Given the description of an element on the screen output the (x, y) to click on. 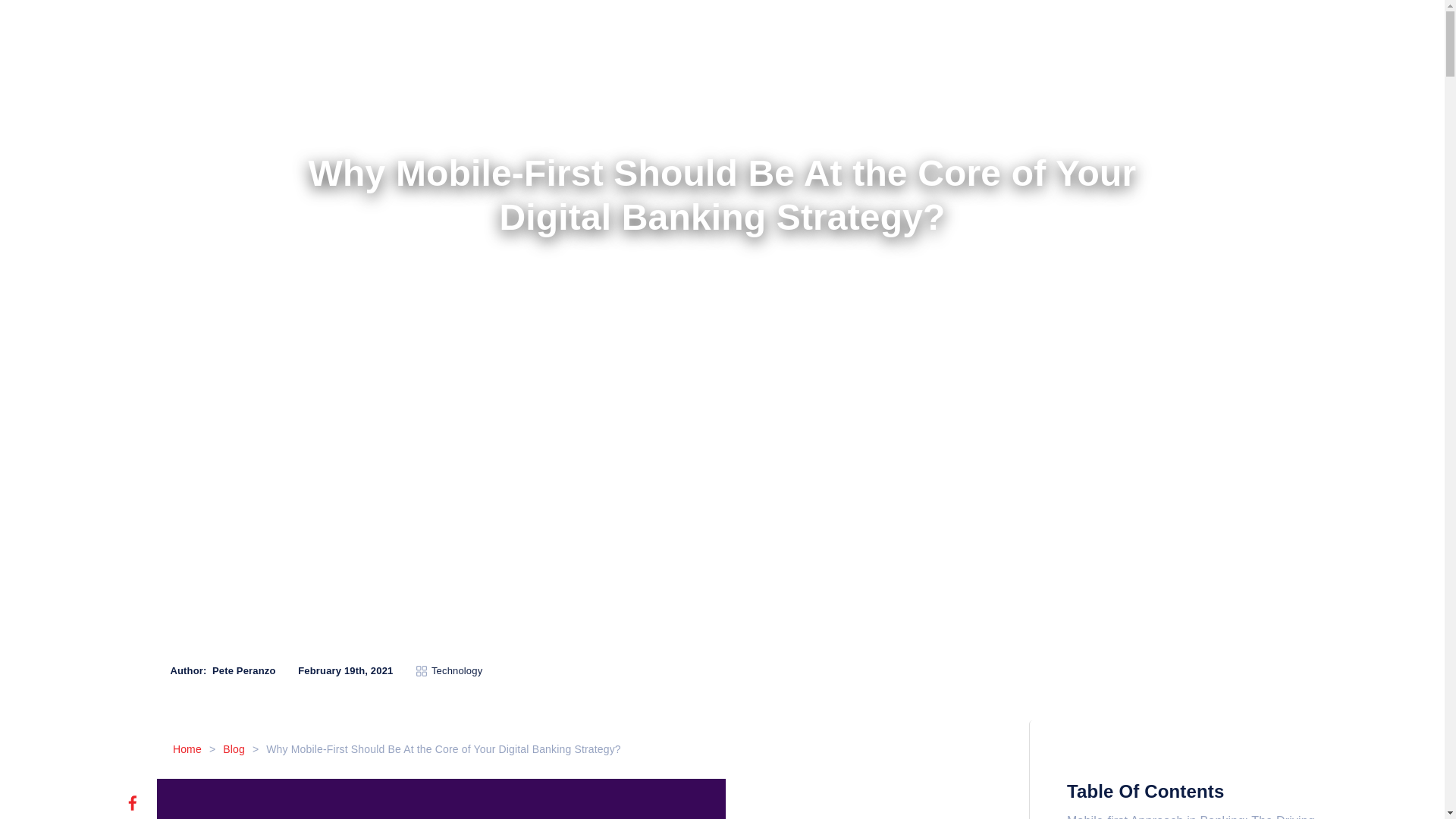
Home (187, 748)
Blog (233, 748)
Pete Peranzo (244, 670)
Technology (455, 670)
Mobile-first Approach in Banking: The Driving Factors (1190, 816)
